Given the description of an element on the screen output the (x, y) to click on. 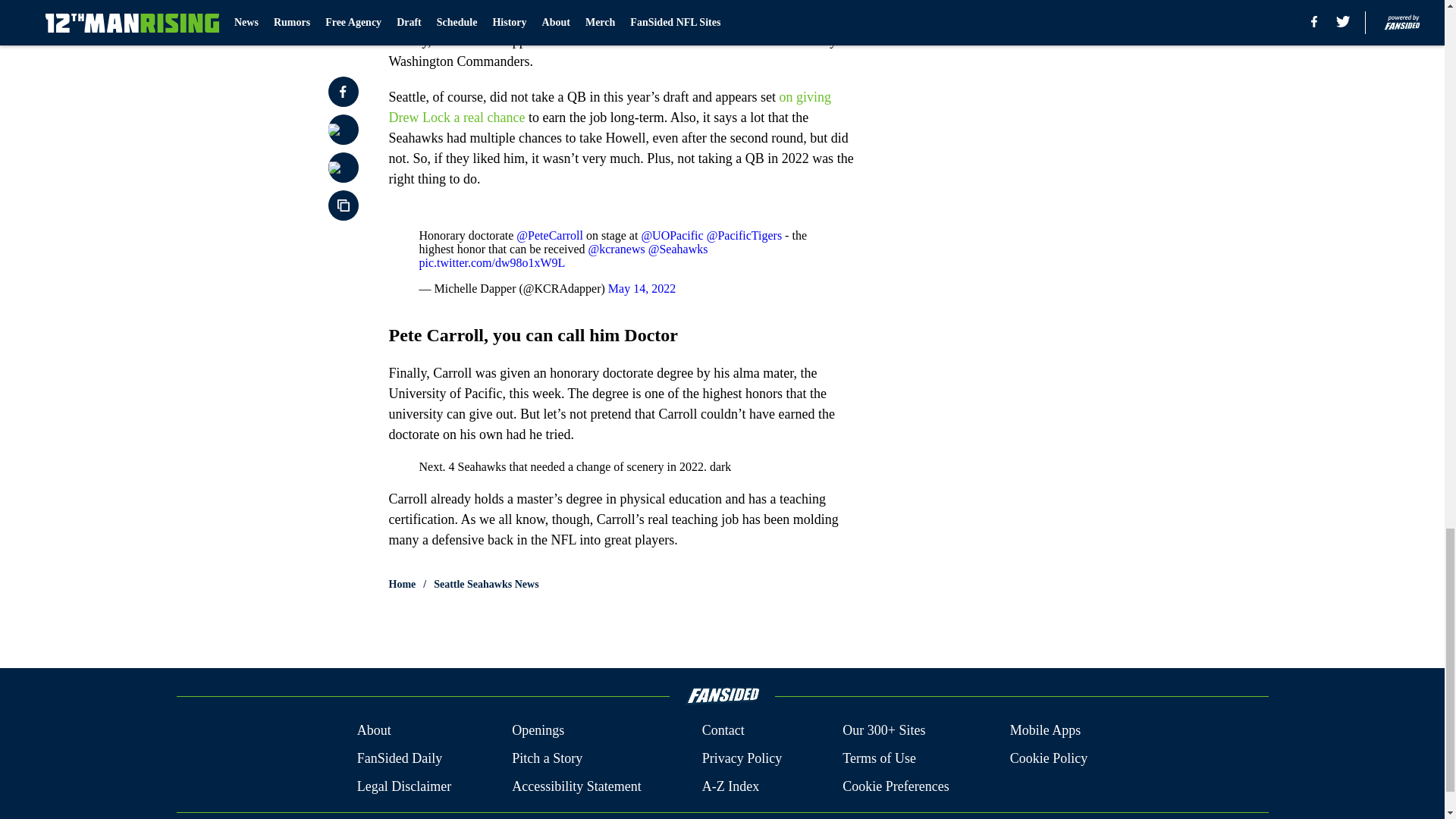
Pitch a Story (547, 758)
Contact (722, 730)
Seattle Seahawks News (485, 584)
on giving Drew Lock a real chance (609, 107)
Openings (538, 730)
About (373, 730)
FanSided Daily (399, 758)
Mobile Apps (1045, 730)
May 14, 2022 (641, 287)
Home (401, 584)
